Given the description of an element on the screen output the (x, y) to click on. 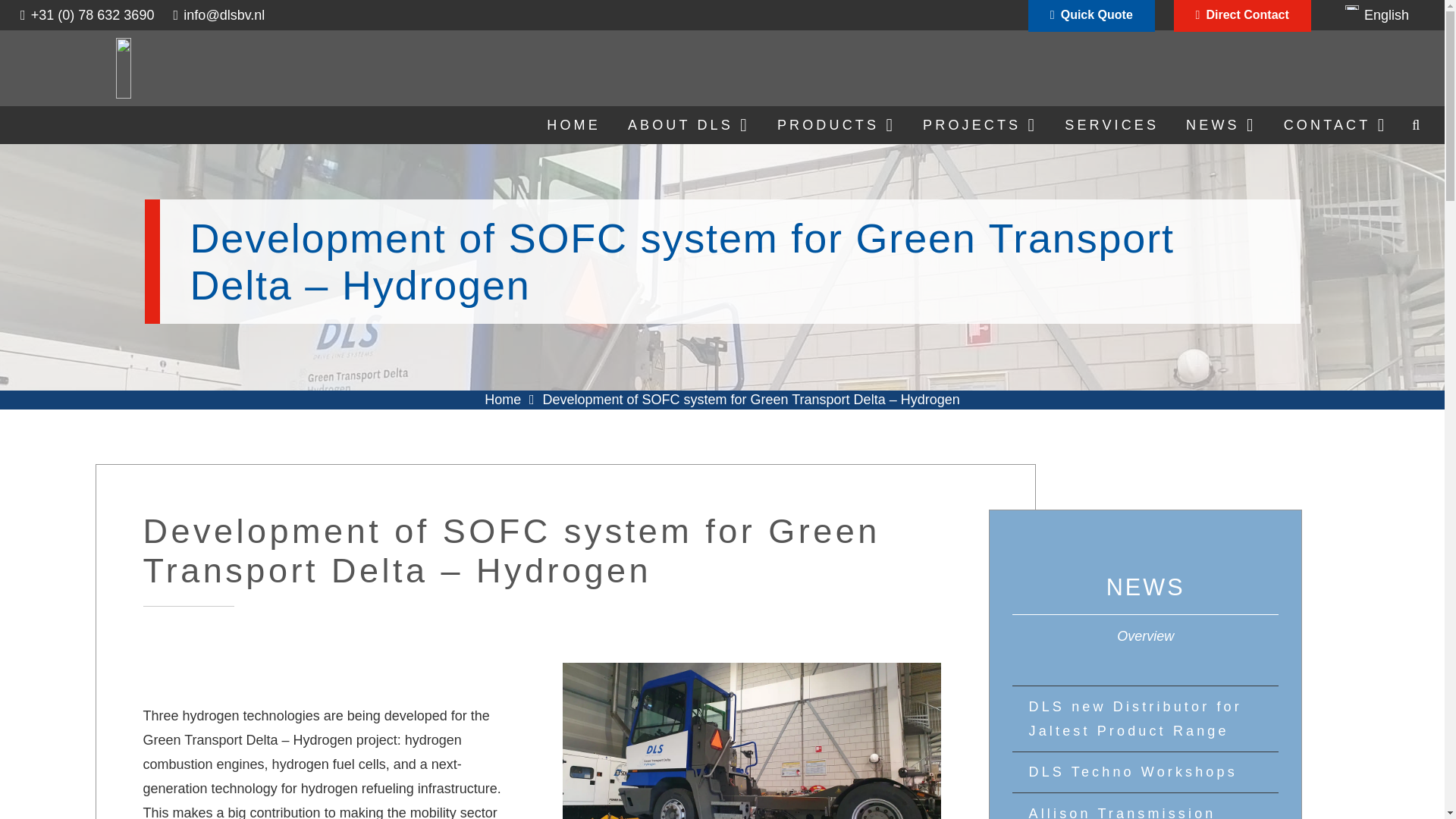
HOME (573, 125)
English (1376, 15)
Quick Quote (1090, 16)
ABOUT DLS (688, 125)
English (1376, 15)
PRODUCTS (835, 125)
PROJECTS (979, 125)
Direct Contact (1242, 16)
